Given the description of an element on the screen output the (x, y) to click on. 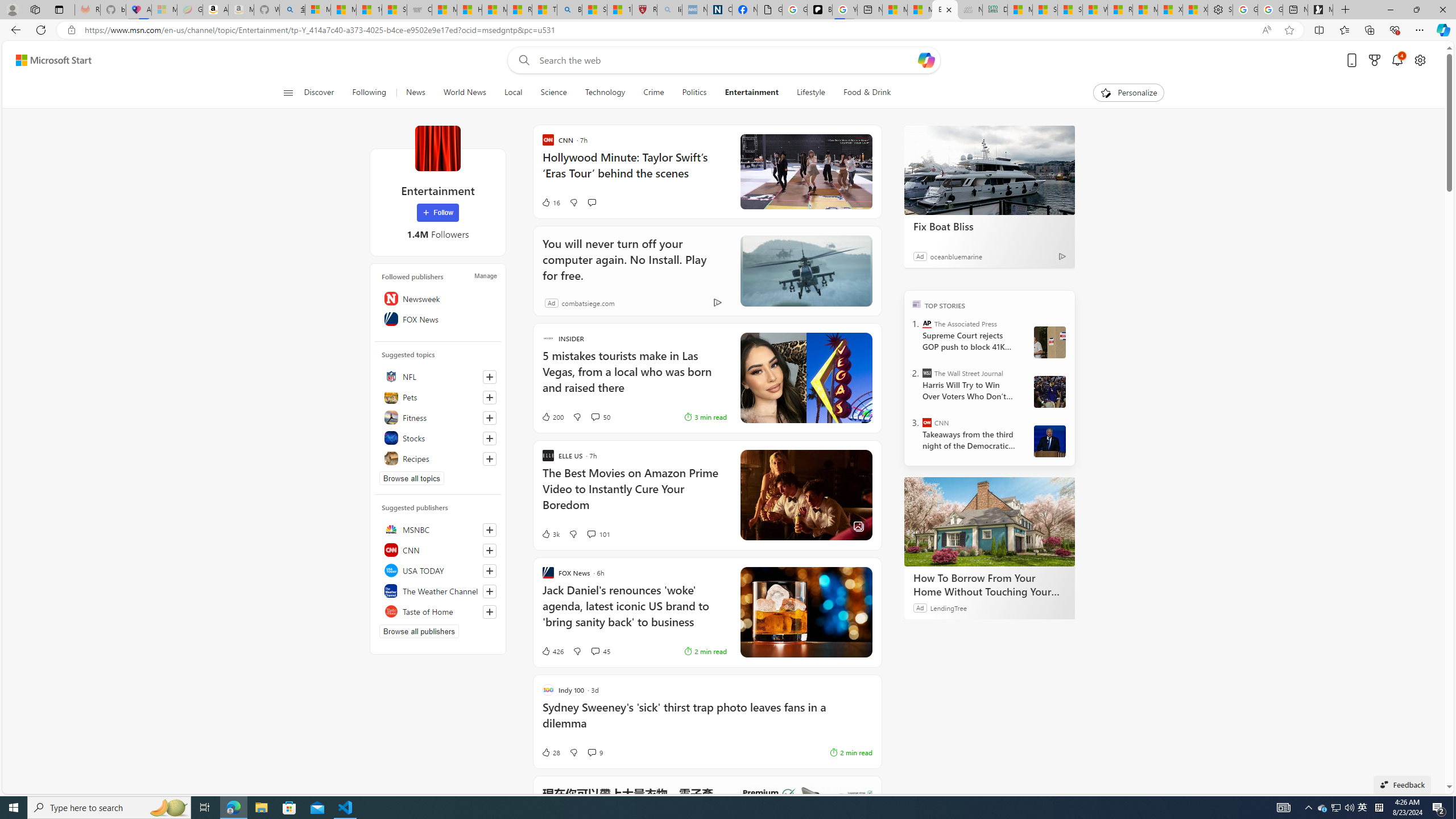
Stocks (437, 437)
View comments 101 Comment (590, 533)
Crime (653, 92)
3k Like (549, 533)
World News (464, 92)
Microsoft rewards (1374, 60)
Entertainment (437, 148)
Technology (605, 92)
Pets (437, 397)
